Given the description of an element on the screen output the (x, y) to click on. 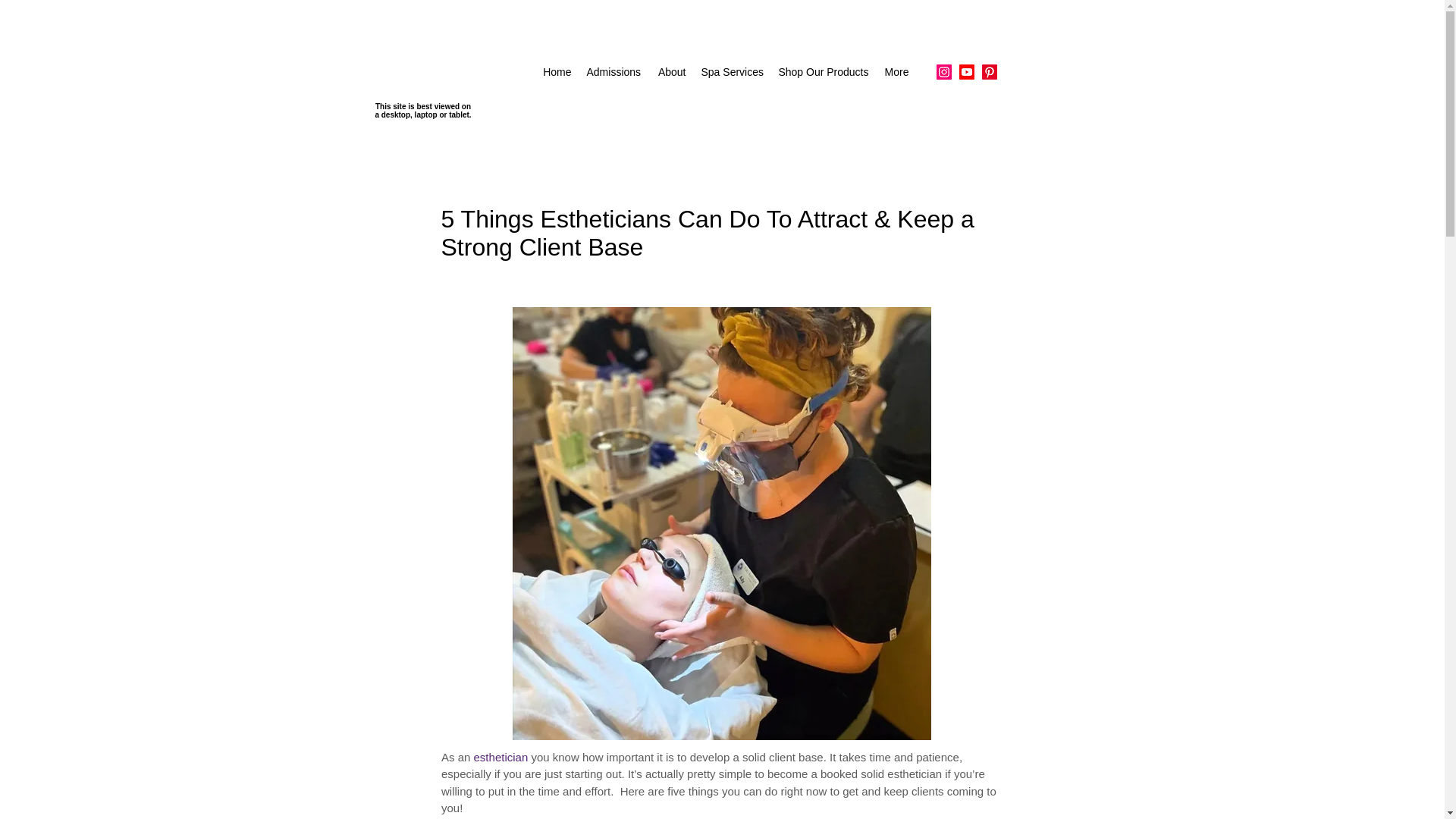
Admissions (613, 71)
Home (557, 71)
Shop Our Products (822, 71)
About (670, 71)
Spa Services (730, 71)
